Given the description of an element on the screen output the (x, y) to click on. 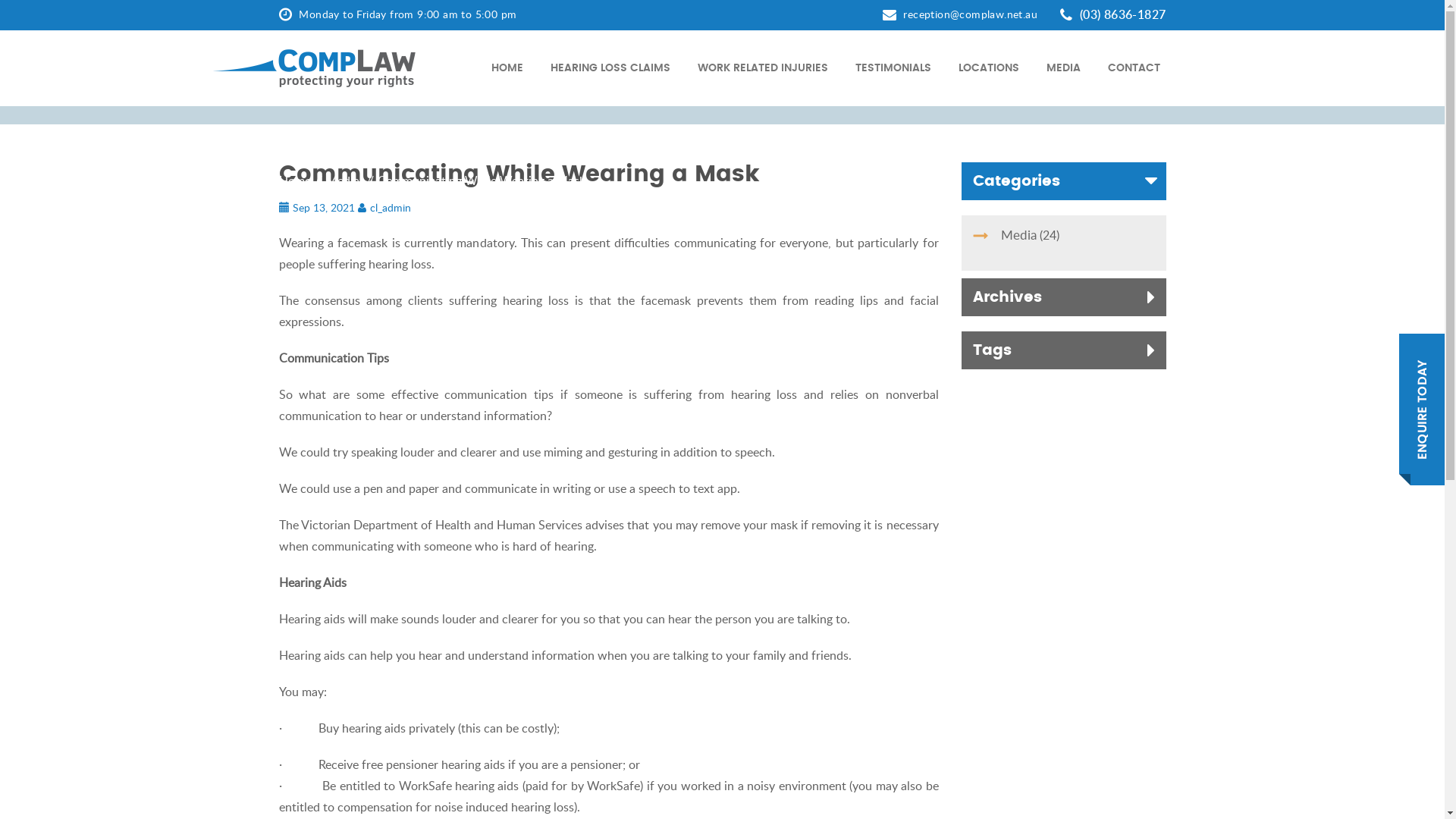
(03) 8636-1827 Element type: text (1112, 14)
HOME Element type: text (507, 68)
MEDIA Element type: text (1063, 68)
Media Element type: text (342, 179)
Tags Element type: text (1063, 350)
reception@complaw.net.au Element type: text (959, 13)
Quick Contact Now Element type: hover (1421, 409)
CONTACT Element type: text (1133, 68)
TESTIMONIALS Element type: text (893, 68)
Categories Element type: text (1063, 181)
Home Element type: text (294, 179)
Media Element type: text (1018, 234)
Archives Element type: text (1063, 297)
HEARING LOSS CLAIMS Element type: text (610, 68)
LOCATIONS Element type: text (988, 68)
WORK RELATED INJURIES Element type: text (762, 68)
Industrial Deafness Claims Element type: hover (313, 68)
